Given the description of an element on the screen output the (x, y) to click on. 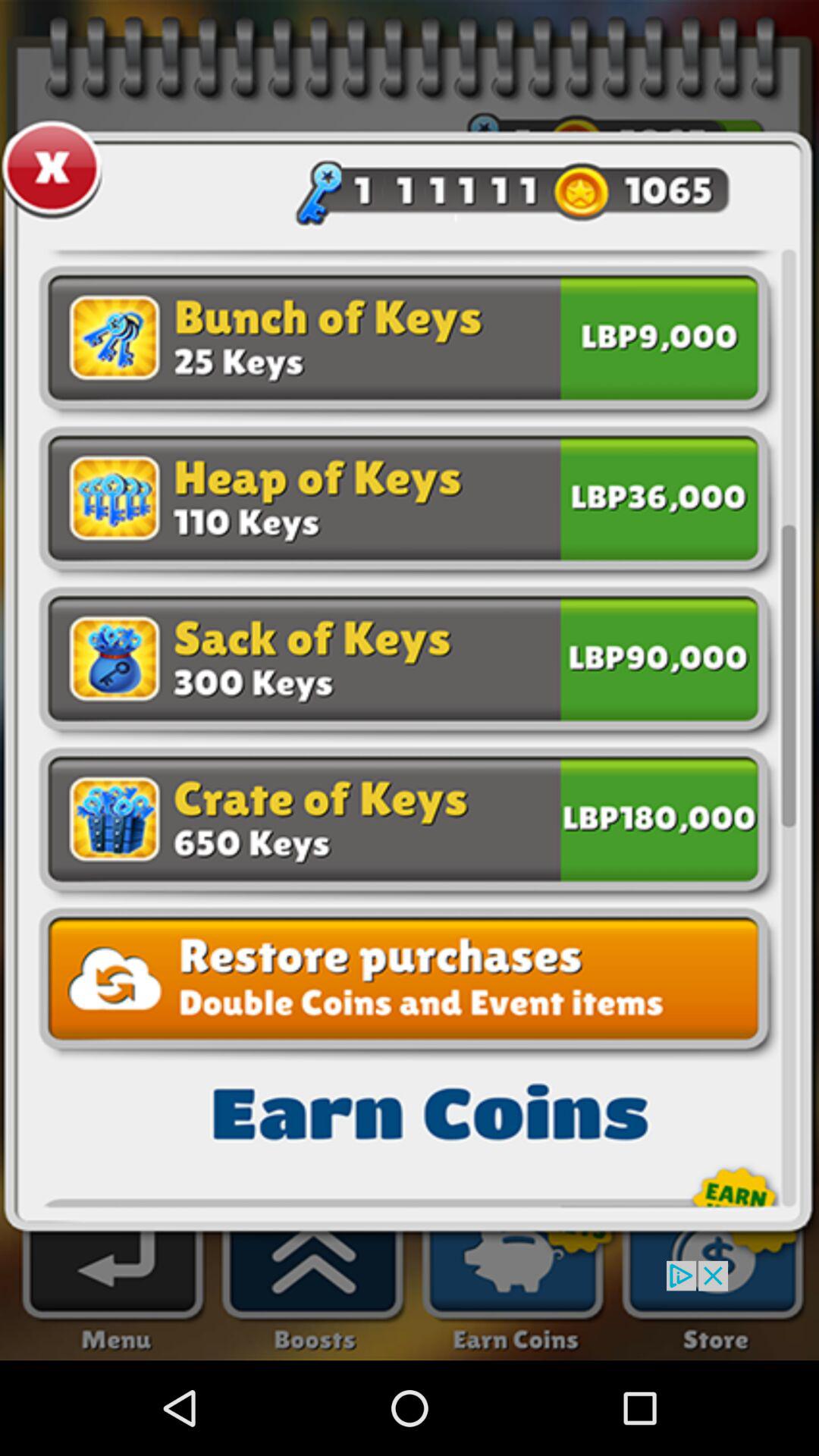
purchase (659, 495)
